Given the description of an element on the screen output the (x, y) to click on. 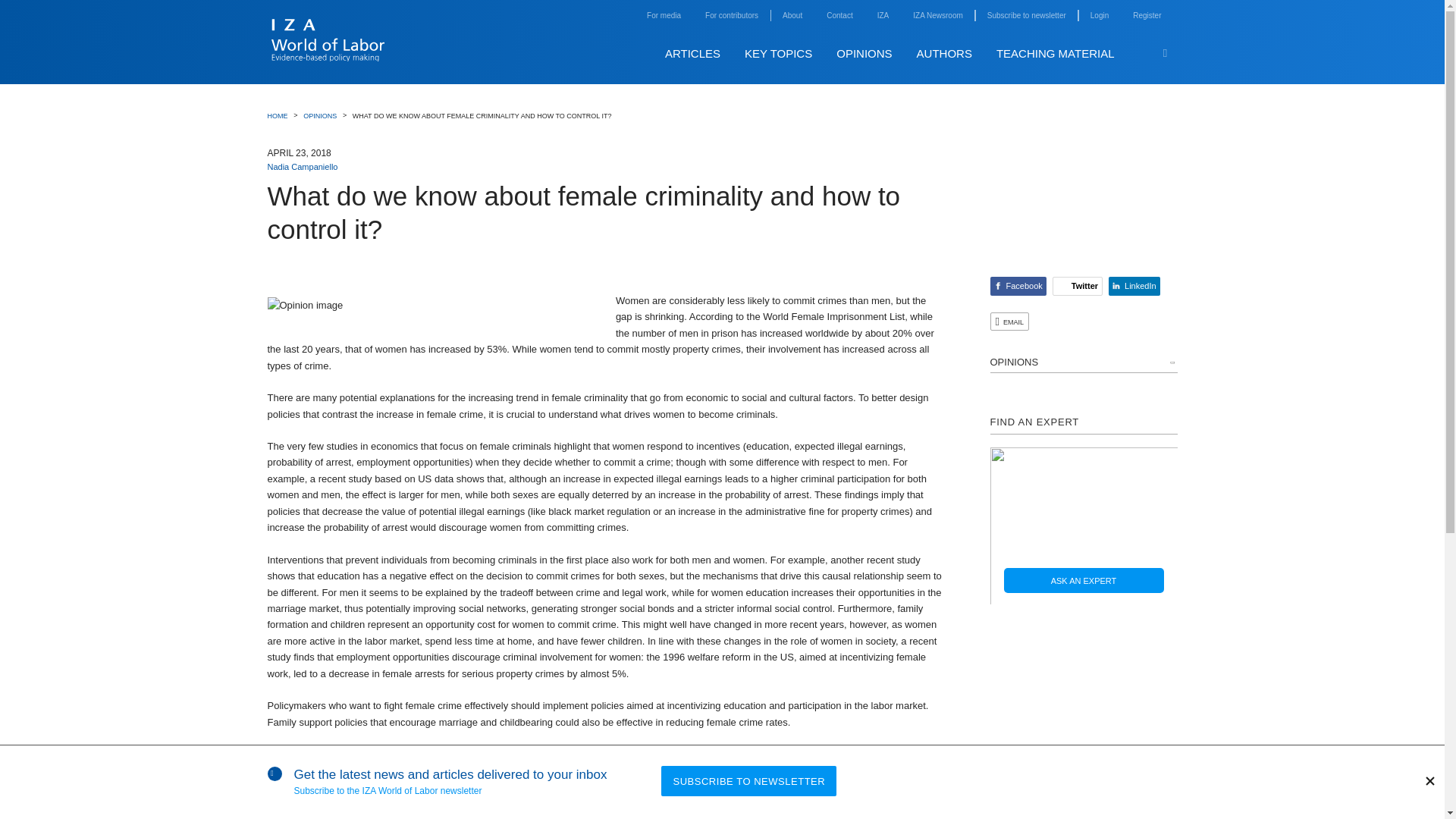
register (1146, 15)
subscribe to newsletter (1026, 15)
for contributors (731, 15)
For media (663, 15)
Login (1099, 15)
ARTICLES (692, 52)
IZA (883, 15)
contact (839, 15)
Skip to main content (1189, 37)
about (792, 15)
IZA Newsroom (937, 15)
